Given the description of an element on the screen output the (x, y) to click on. 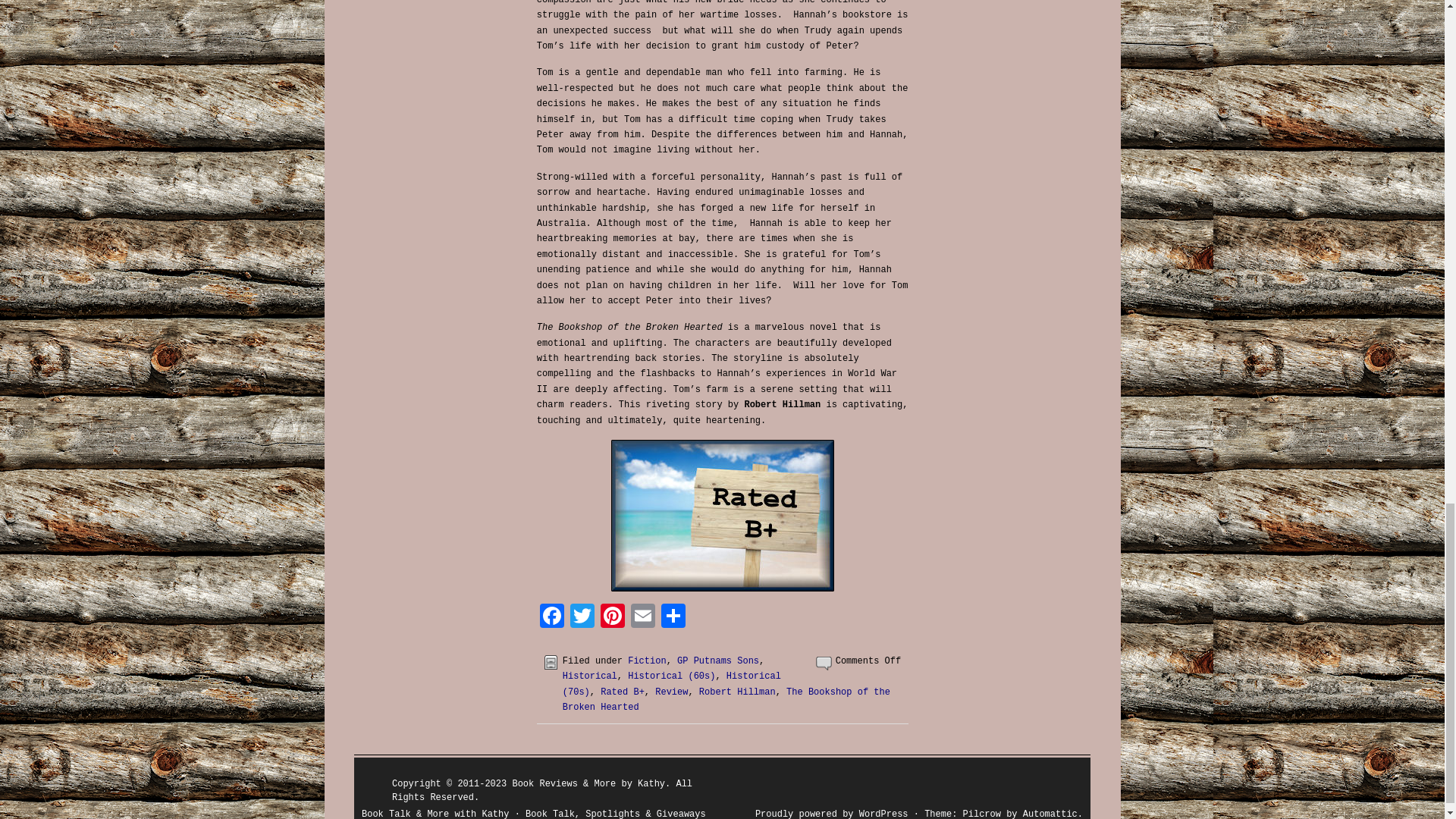
Pinterest (611, 618)
Pinterest (611, 618)
Facebook (552, 618)
Robert Hillman (737, 692)
Fiction (646, 661)
GP Putnams Sons (717, 661)
Twitter (581, 618)
The Bookshop of the Broken Hearted (725, 699)
Historical (589, 675)
Email (642, 618)
